Given the description of an element on the screen output the (x, y) to click on. 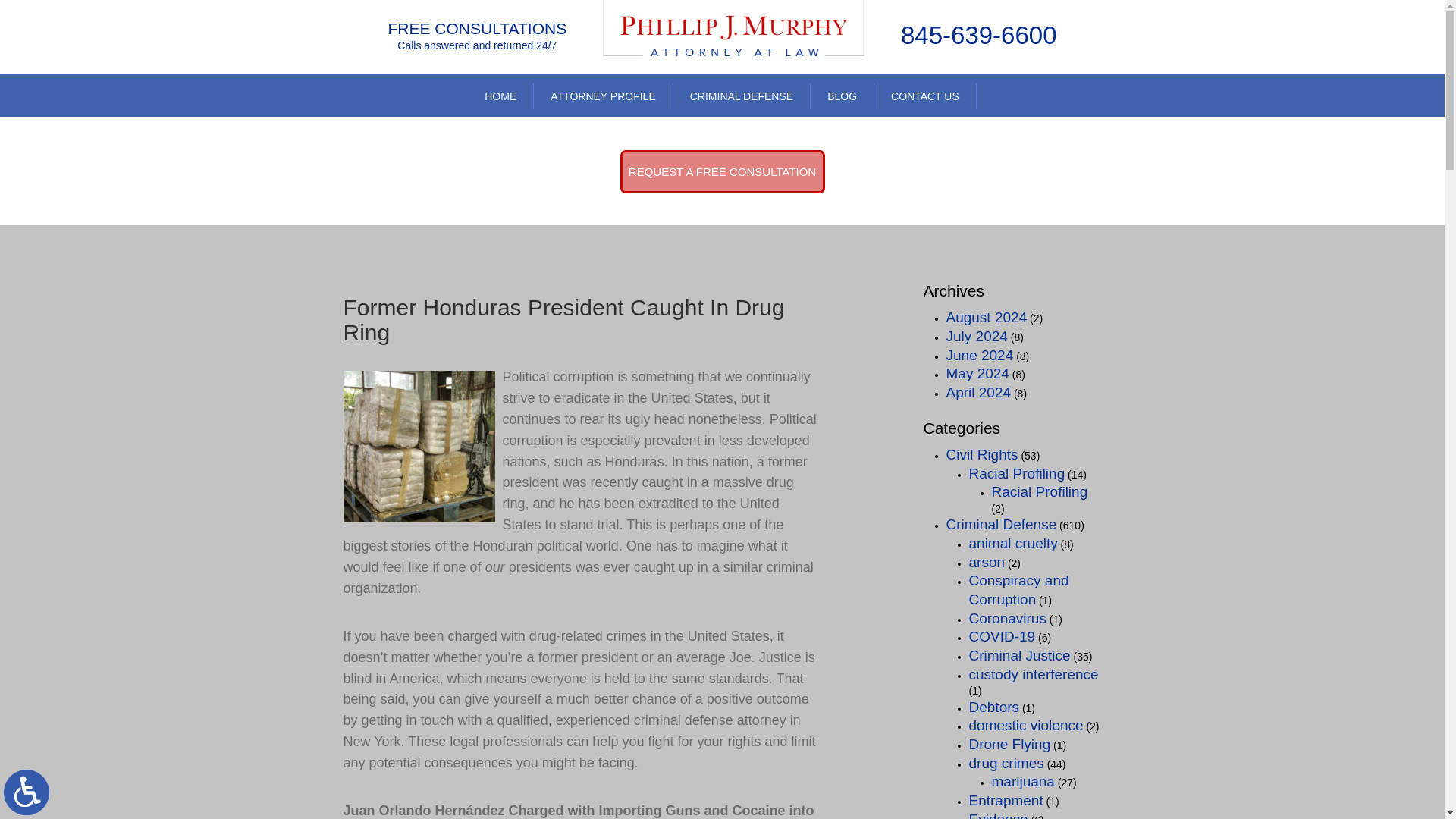
DrugSmug2 (418, 446)
845-639-6600 (979, 34)
CONTACT US (924, 95)
REQUEST A FREE CONSULTATION (722, 171)
ATTORNEY PROFILE (602, 95)
BLOG (841, 95)
CRIMINAL DEFENSE (741, 95)
HOME (500, 95)
